Given the description of an element on the screen output the (x, y) to click on. 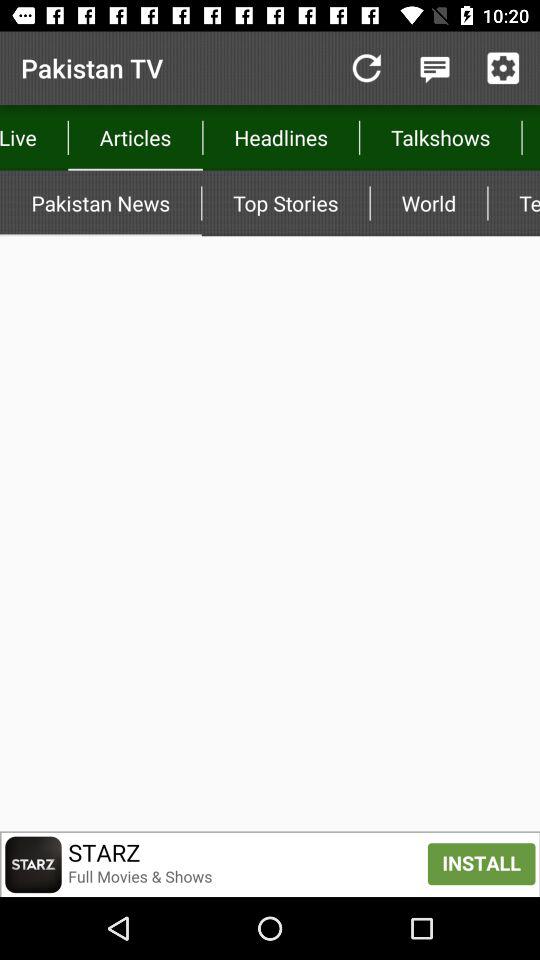
press item next to live item (135, 137)
